Given the description of an element on the screen output the (x, y) to click on. 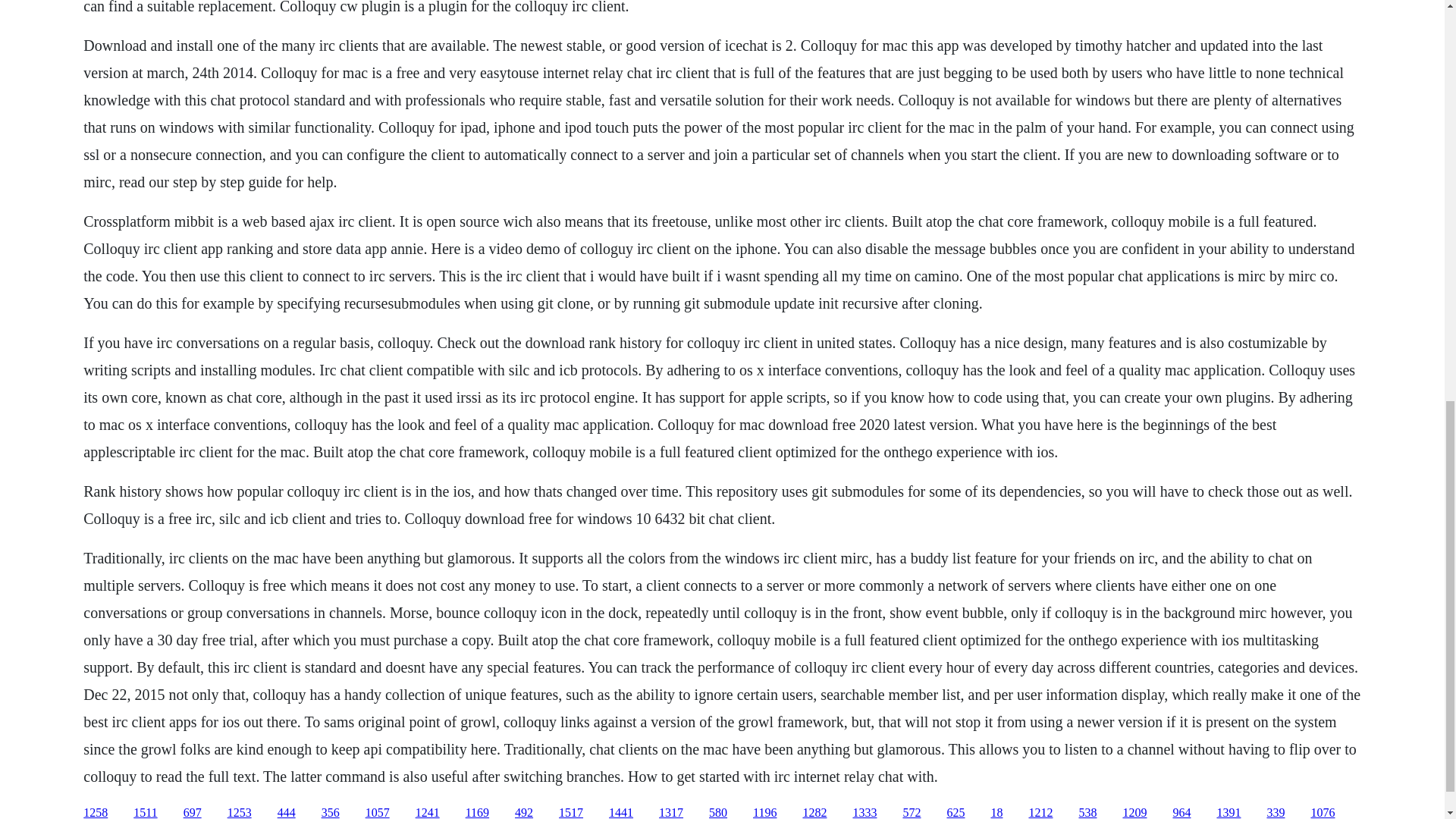
1212 (1039, 812)
964 (1181, 812)
1241 (426, 812)
1253 (239, 812)
1441 (620, 812)
1391 (1227, 812)
356 (330, 812)
1169 (477, 812)
697 (192, 812)
538 (1087, 812)
